Given the description of an element on the screen output the (x, y) to click on. 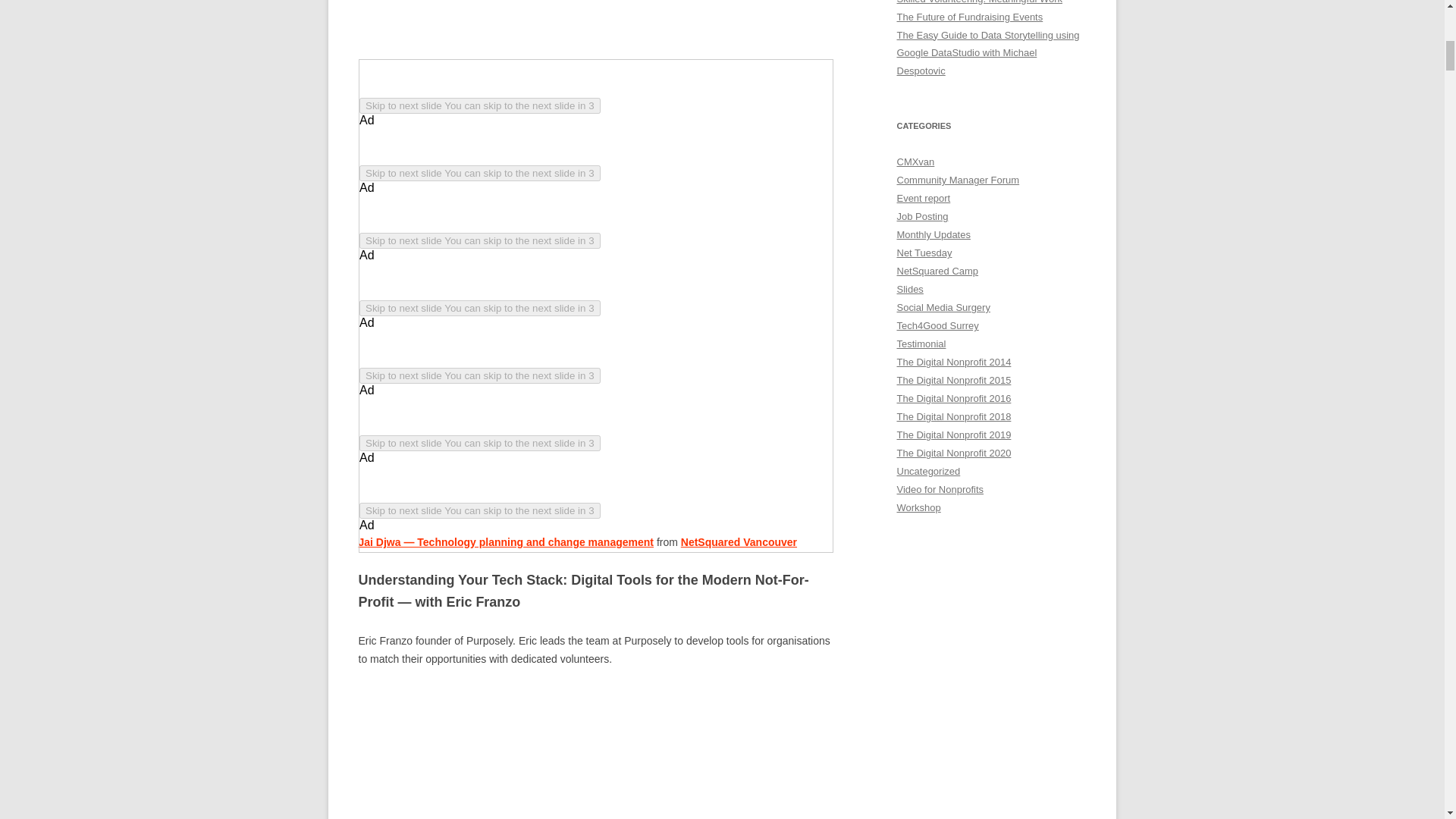
NetSquared Vancouver (738, 541)
